Given the description of an element on the screen output the (x, y) to click on. 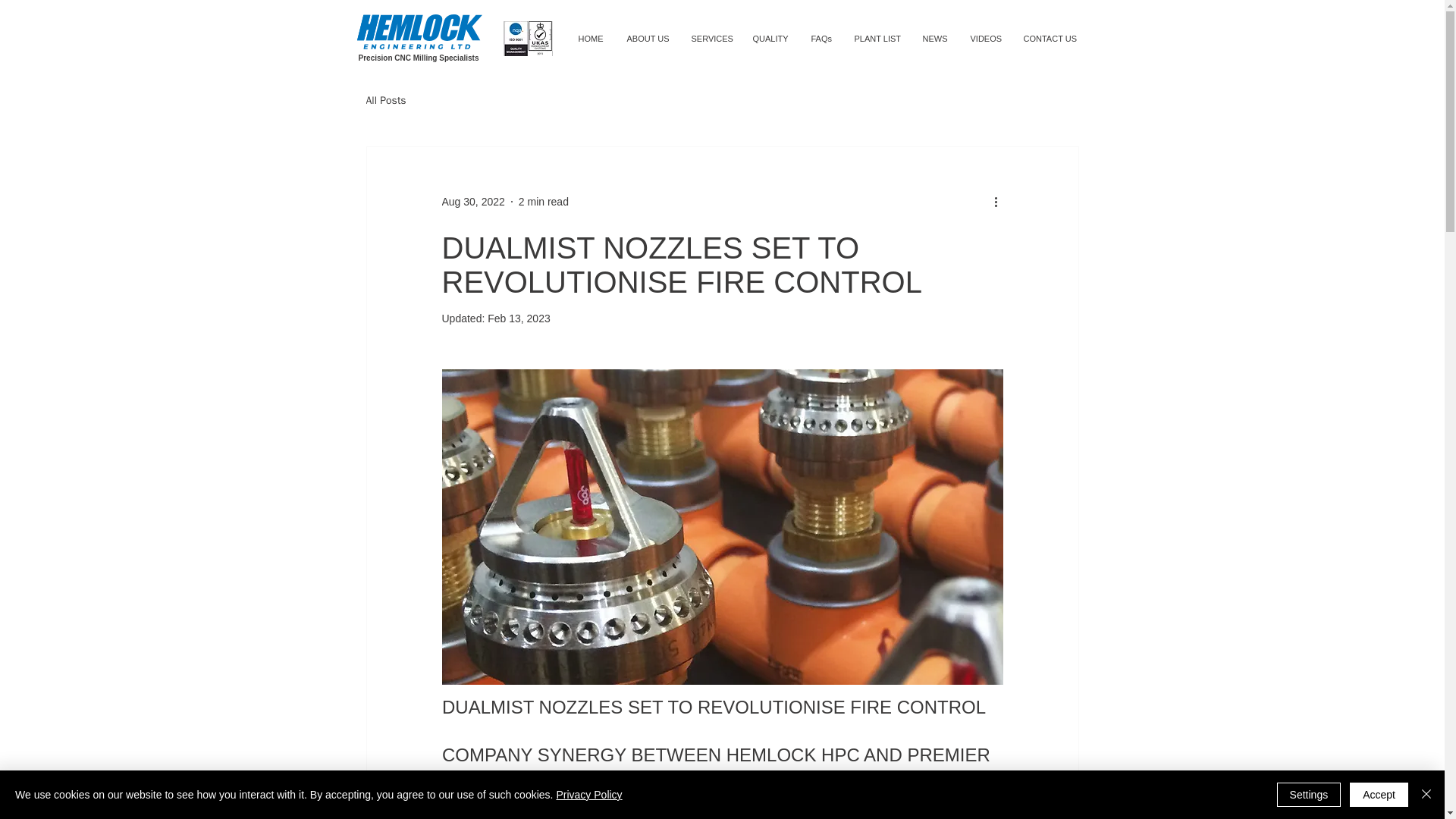
SERVICES (710, 39)
2 min read (543, 201)
Feb 13, 2023 (518, 318)
VIDEOS (984, 39)
CONTACT US (1049, 39)
HOME (591, 39)
PLANT LIST (877, 39)
FAQs (821, 39)
Aug 30, 2022 (472, 201)
NEWS (935, 39)
